Given the description of an element on the screen output the (x, y) to click on. 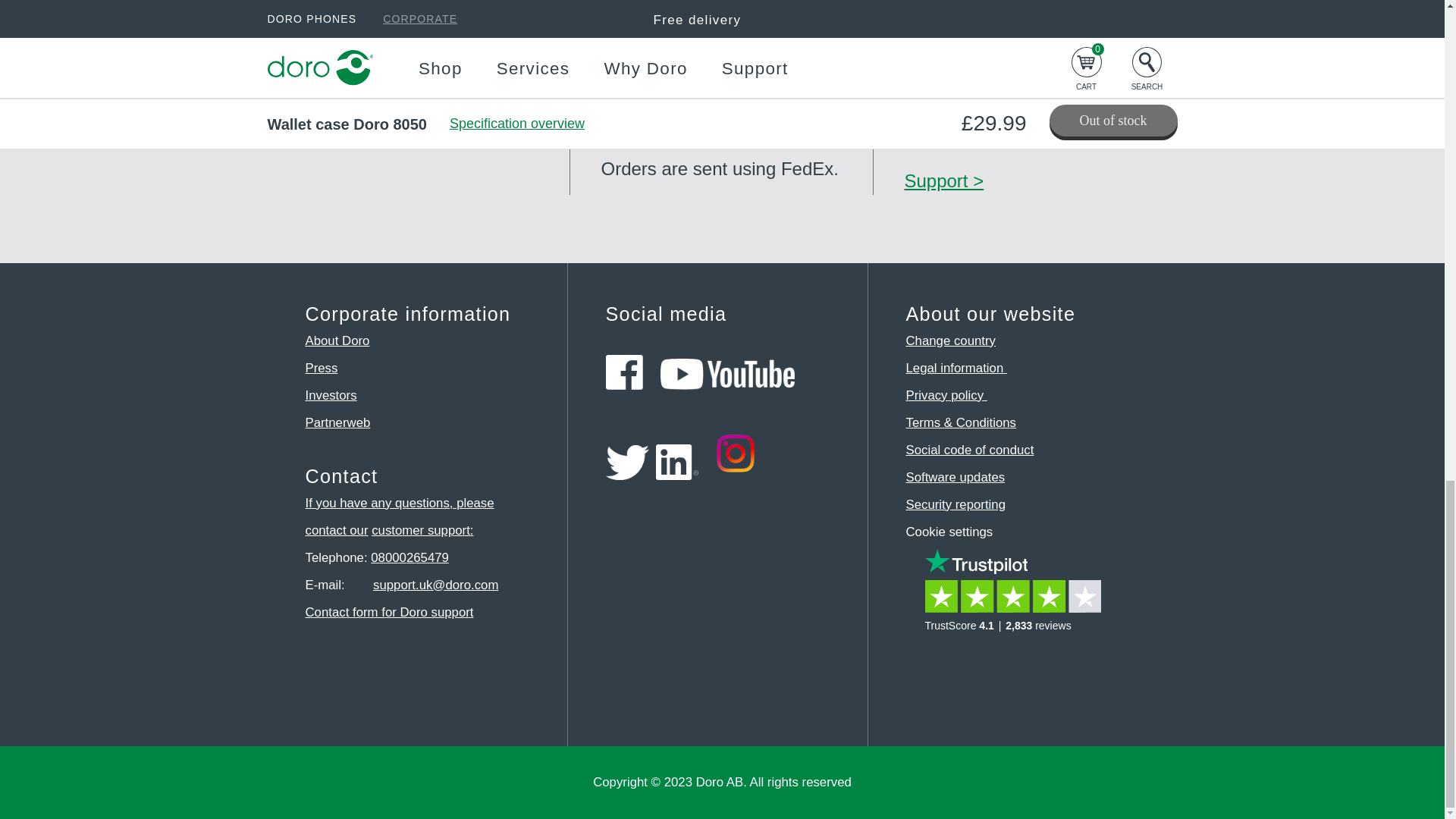
Click here to visit Doros Instagram account (735, 475)
Click here to enter Doros support web page (398, 516)
Click here to call our support at 08000265479 (409, 557)
Click here to go directly to Doro contact form for support (388, 612)
Click here to enter Doros support web page (422, 530)
Click here for sending an e-mail to our support (434, 585)
Customer reviews powered by Trustpilot (1017, 603)
Support (944, 180)
